Given the description of an element on the screen output the (x, y) to click on. 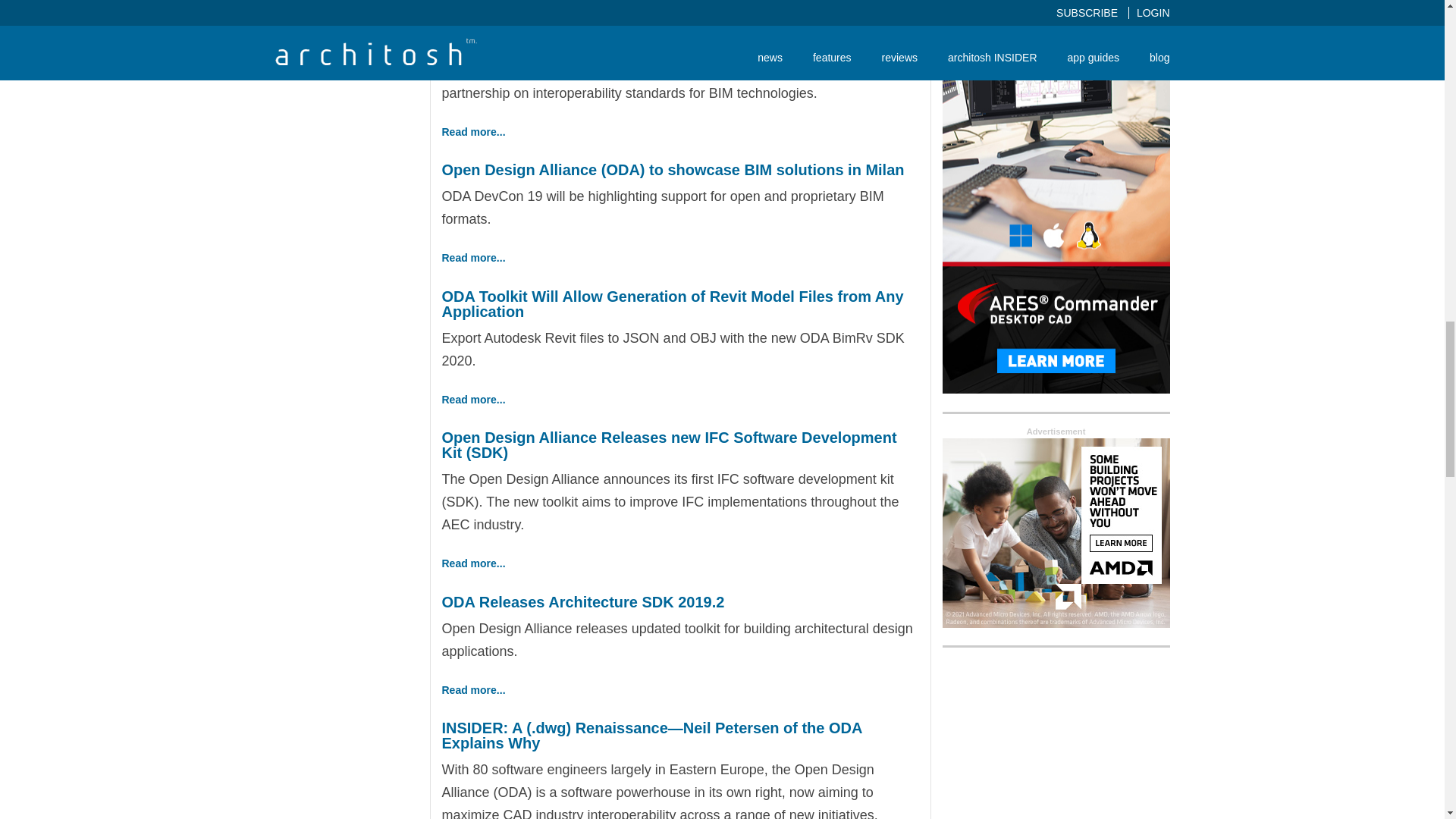
Read more... (473, 257)
Read more... (473, 132)
